Given the description of an element on the screen output the (x, y) to click on. 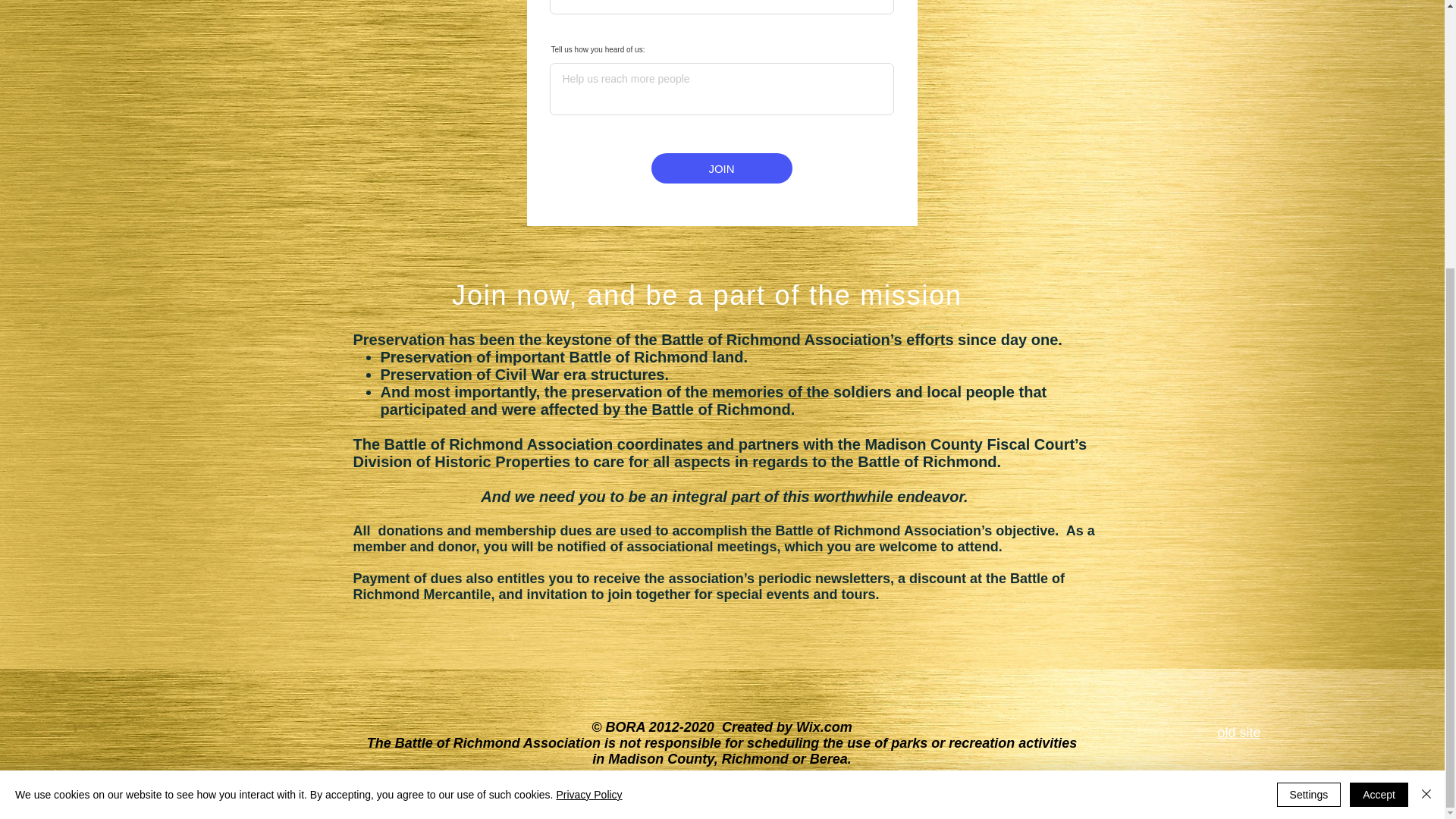
Accept (1378, 404)
Privacy Policy (588, 404)
old site (1238, 732)
Settings (1308, 404)
JOIN (721, 168)
